Given the description of an element on the screen output the (x, y) to click on. 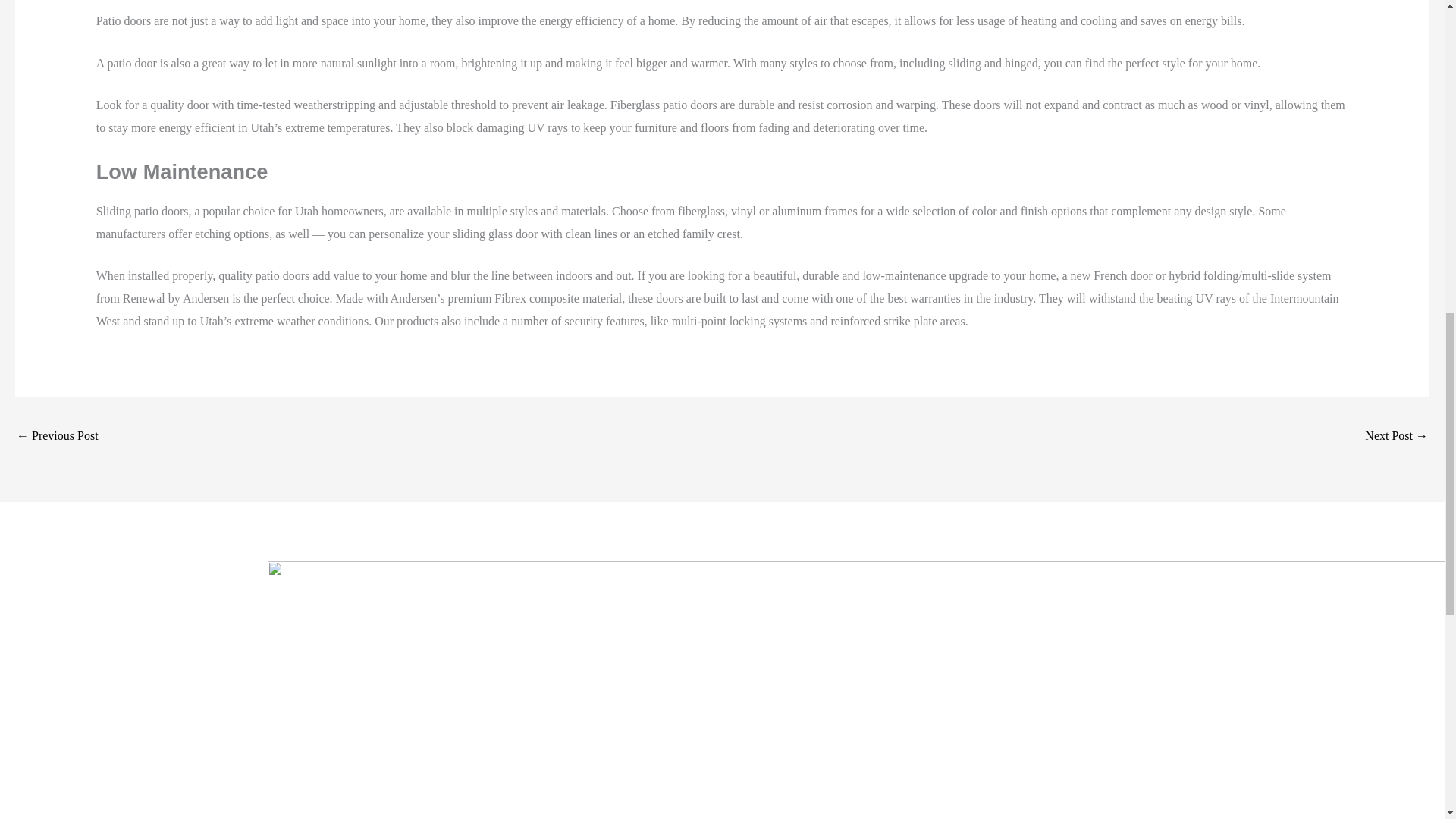
Why Choose Double Pane Windows? (57, 437)
Sliding Glass Doors (1396, 437)
